Given the description of an element on the screen output the (x, y) to click on. 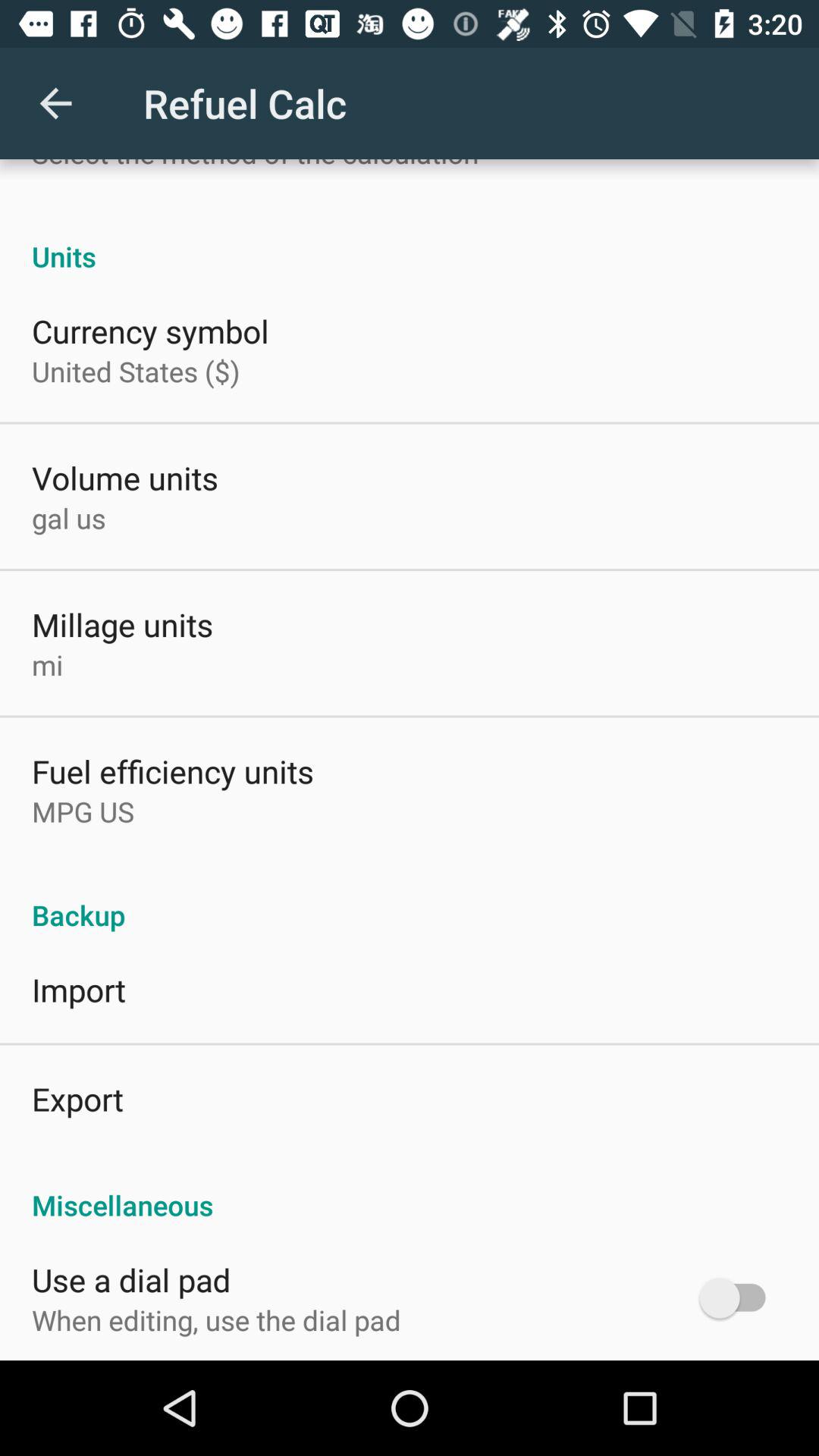
press the item below the export item (409, 1188)
